Given the description of an element on the screen output the (x, y) to click on. 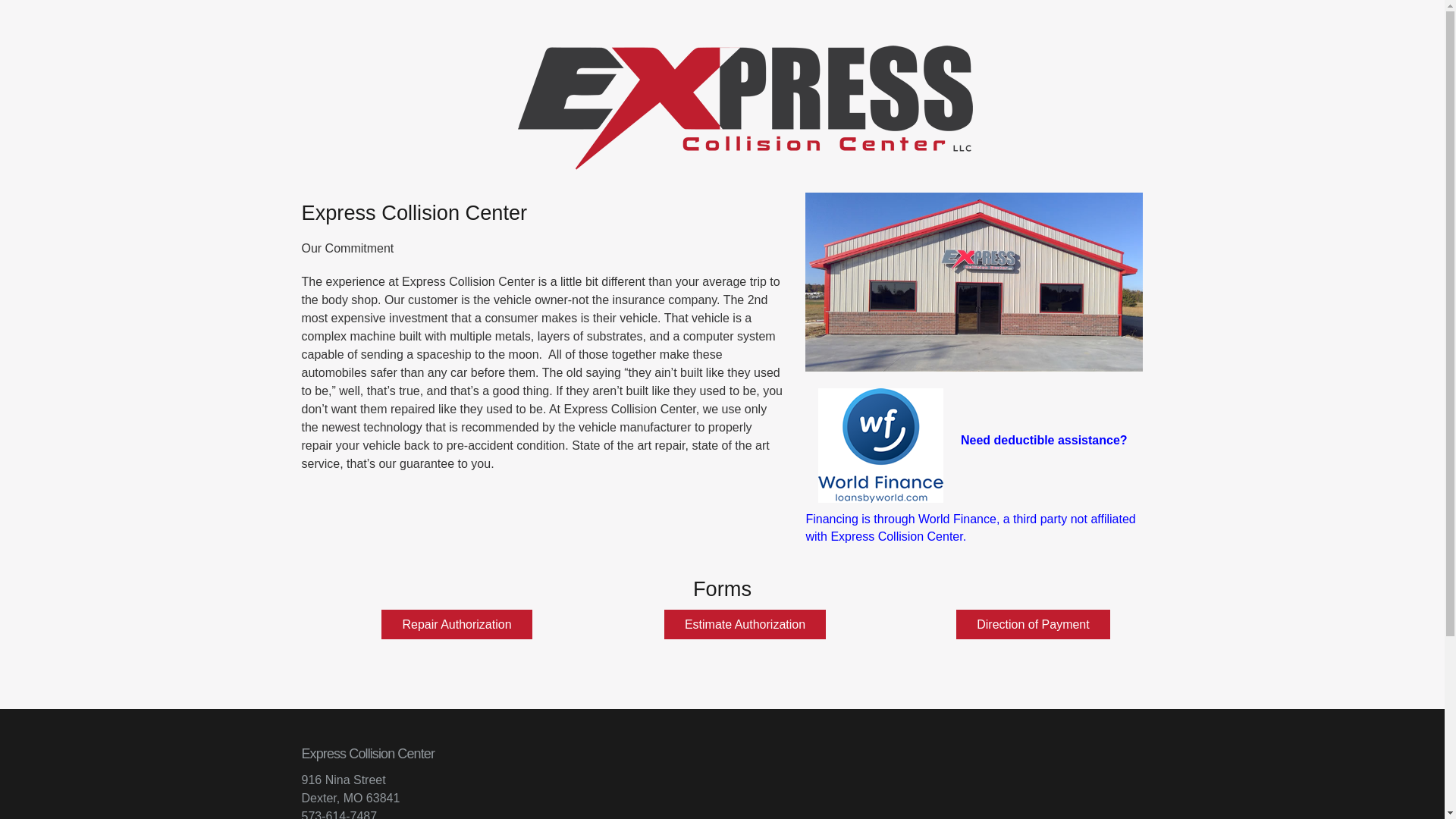
Repair Authorization (456, 624)
Direction of Payment (1032, 624)
Estimate Authorization (744, 624)
